Given the description of an element on the screen output the (x, y) to click on. 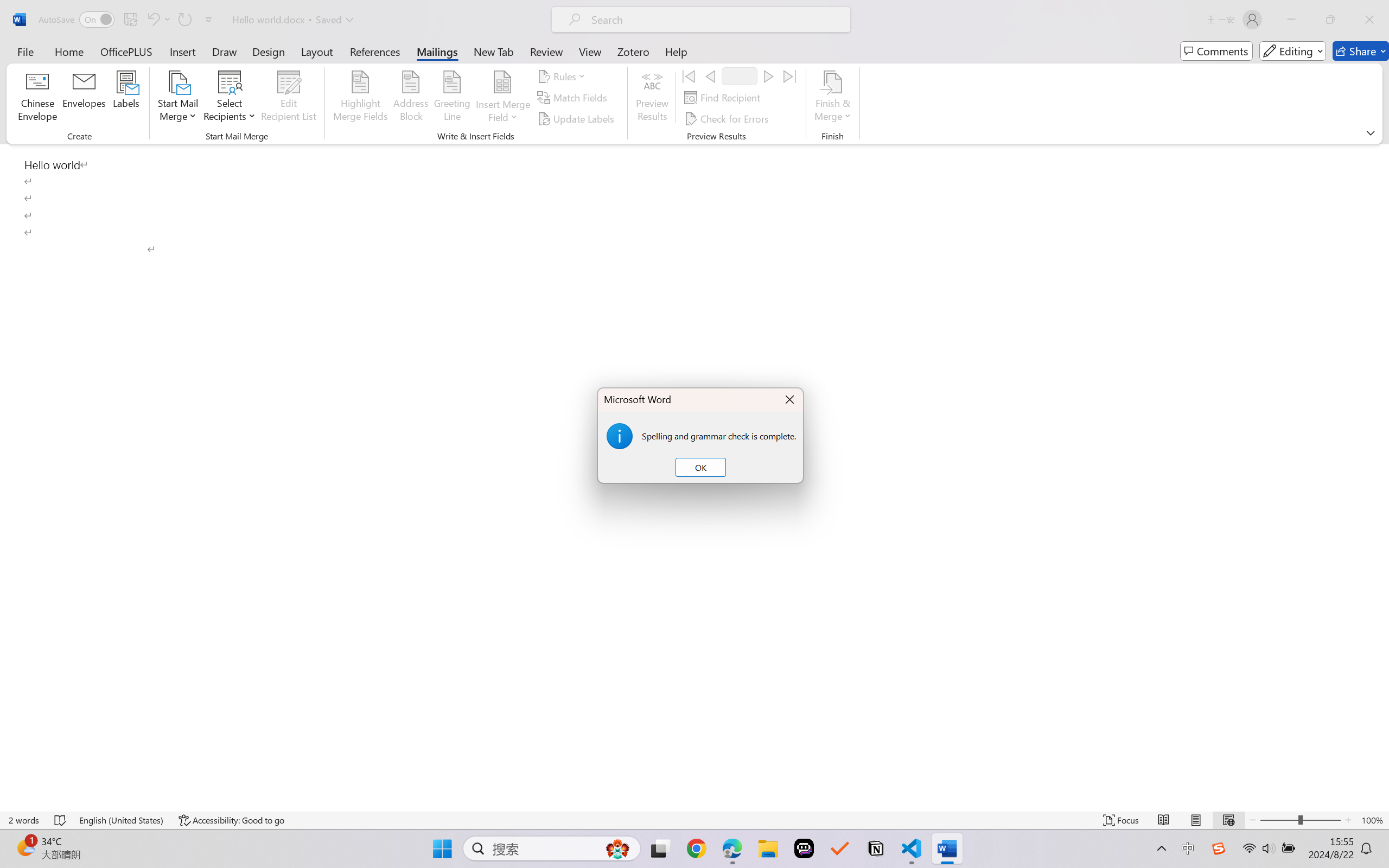
Class: MsoCommandBar (694, 72)
Microsoft search (715, 19)
Review (546, 51)
OfficePLUS (126, 51)
Class: Image (1218, 847)
Preview Results (652, 97)
Highlight Merge Fields (360, 97)
Zoom Out (1278, 819)
Envelopes... (84, 97)
Edit Recipient List... (288, 97)
Minimize (1291, 19)
